Given the description of an element on the screen output the (x, y) to click on. 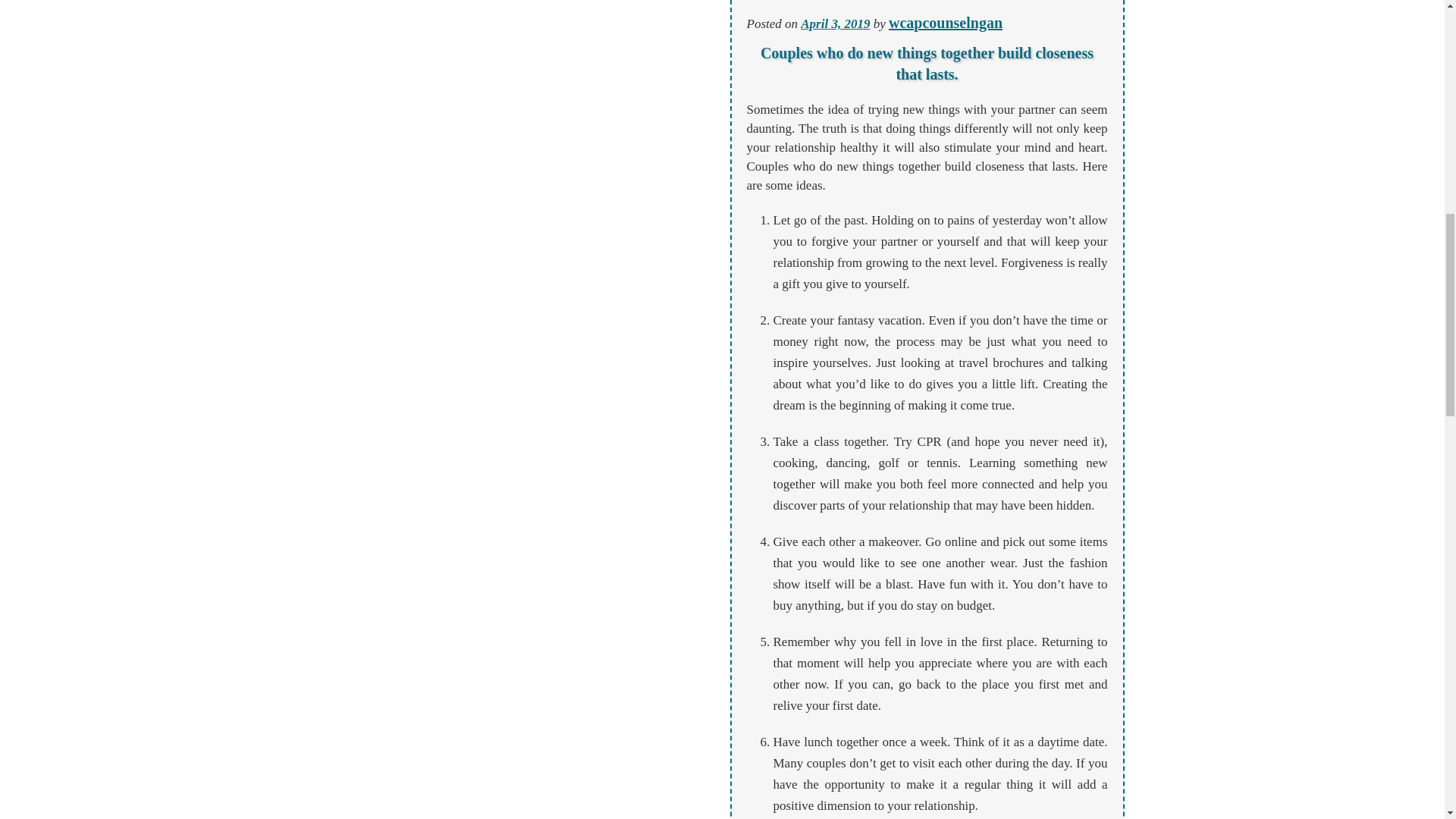
View all posts by wcapcounselngan (945, 22)
8:36 am (834, 23)
April 3, 2019 (834, 23)
wcapcounselngan (945, 22)
